Given the description of an element on the screen output the (x, y) to click on. 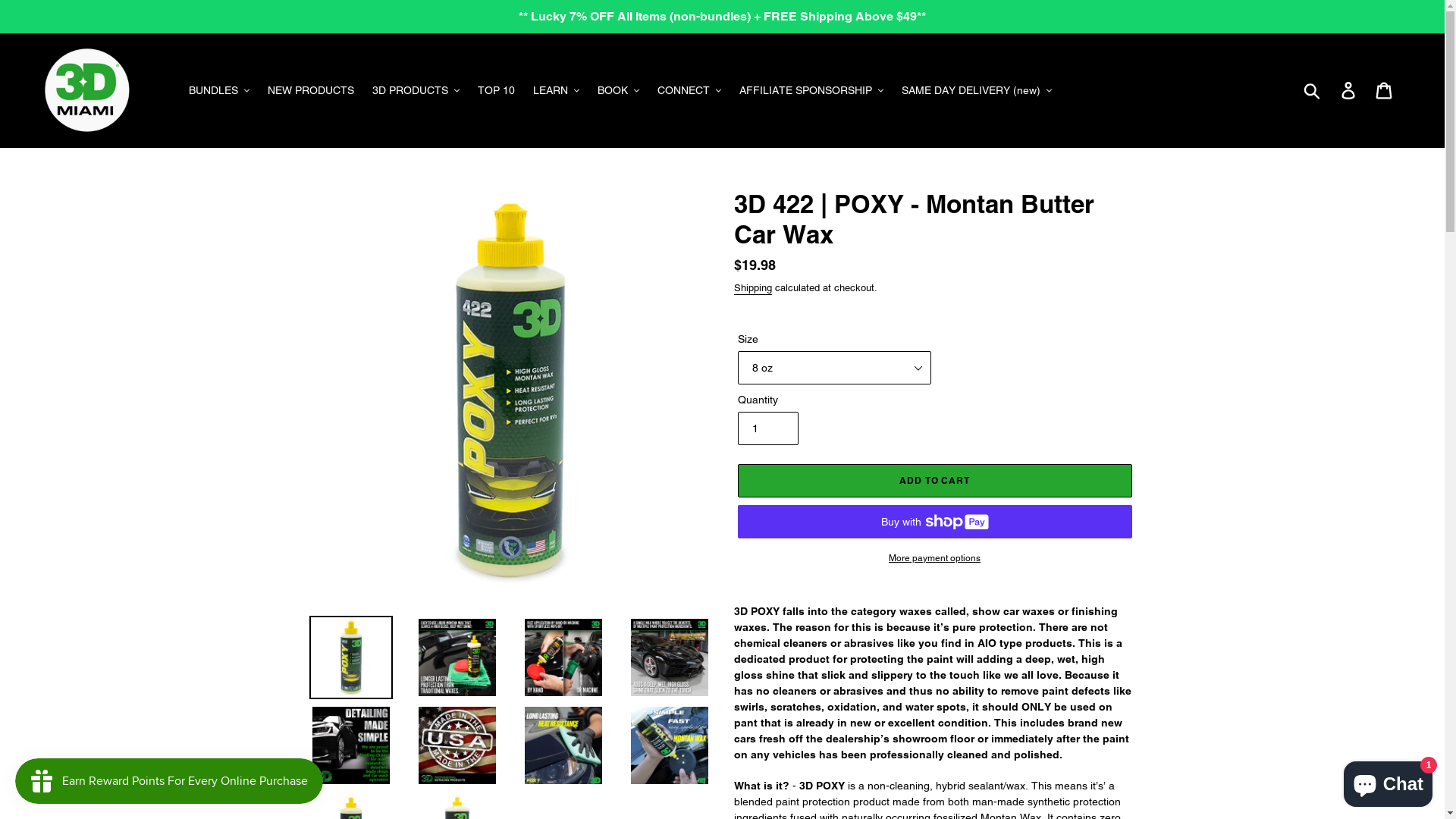
NEW PRODUCTS Element type: text (310, 90)
Log in Element type: text (1349, 90)
TOP 10 Element type: text (496, 90)
Shopify online store chat Element type: hover (1388, 780)
Cart Element type: text (1384, 90)
Submit Element type: text (1312, 89)
Shipping Element type: text (752, 288)
More payment options Element type: text (934, 557)
Smile.io Rewards Program Launcher Element type: hover (169, 780)
ADD TO CART Element type: text (934, 480)
